Given the description of an element on the screen output the (x, y) to click on. 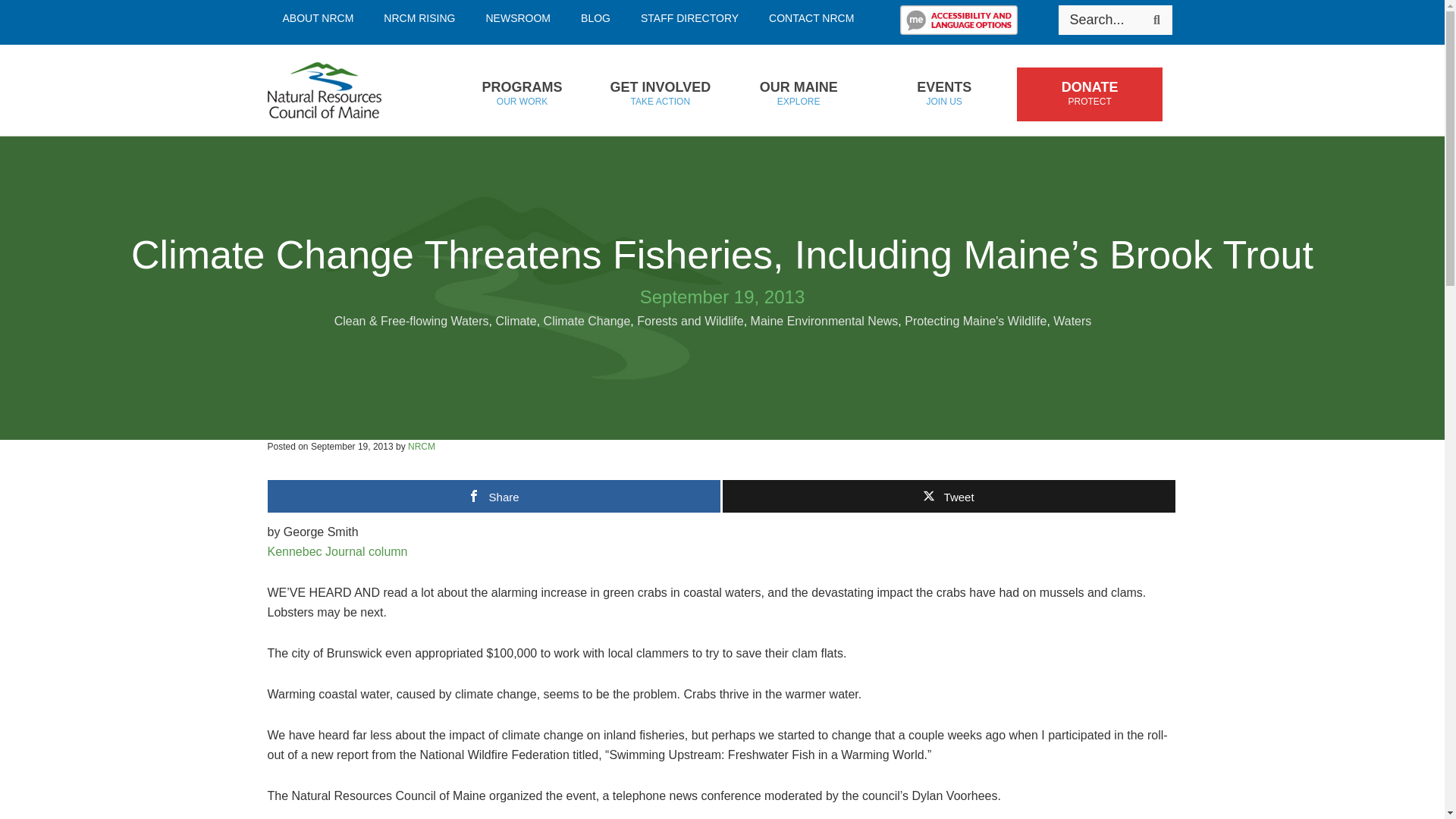
STAFF DIRECTORY (690, 18)
Natural Resources Council of Maine (347, 90)
ABOUT NRCM (317, 18)
BLOG (521, 94)
CONTACT NRCM (596, 18)
NRCM RISING (811, 18)
Search (419, 18)
NEWSROOM (1156, 19)
